Given the description of an element on the screen output the (x, y) to click on. 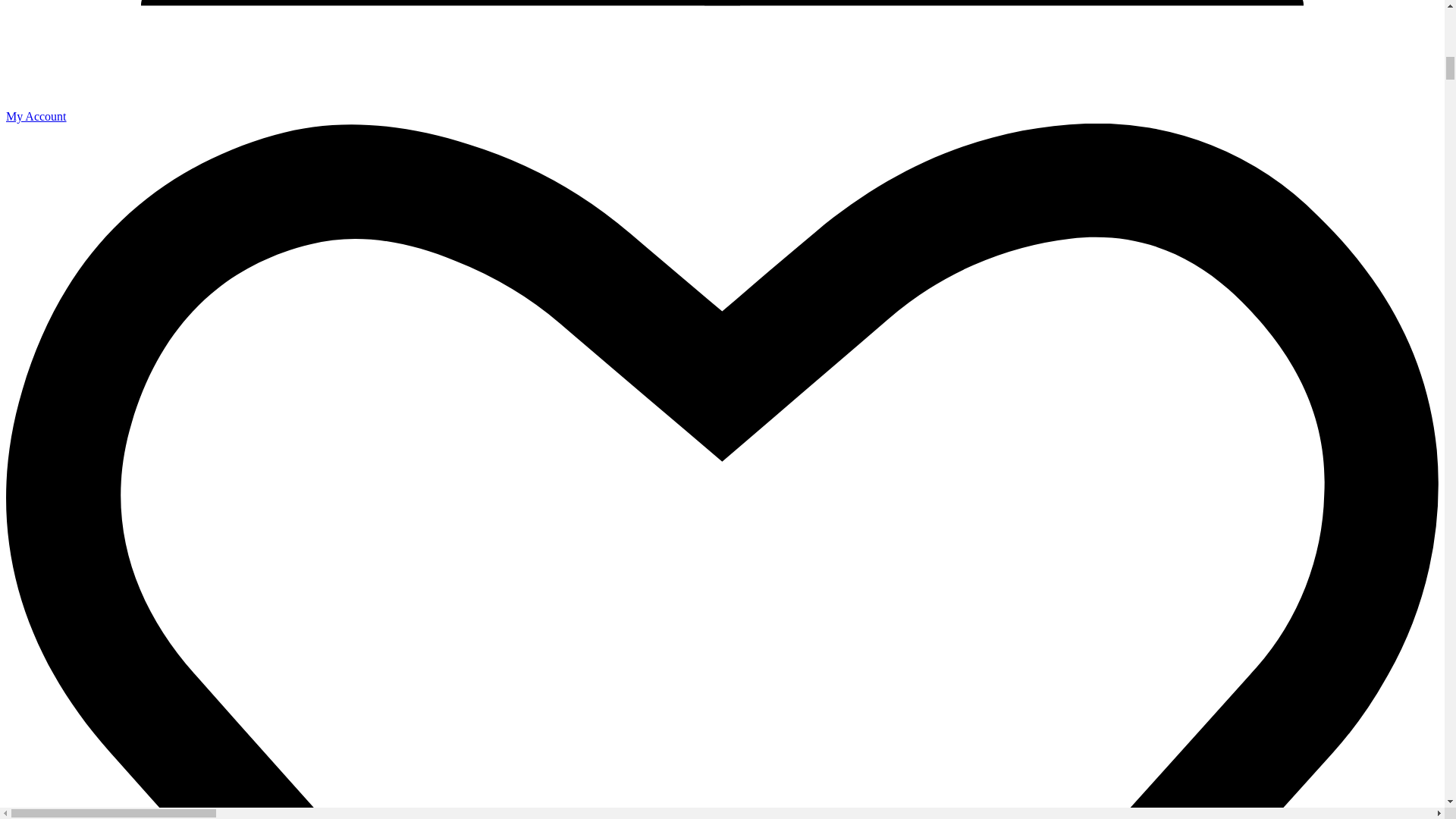
My Account (721, 109)
My Account (721, 109)
